Given the description of an element on the screen output the (x, y) to click on. 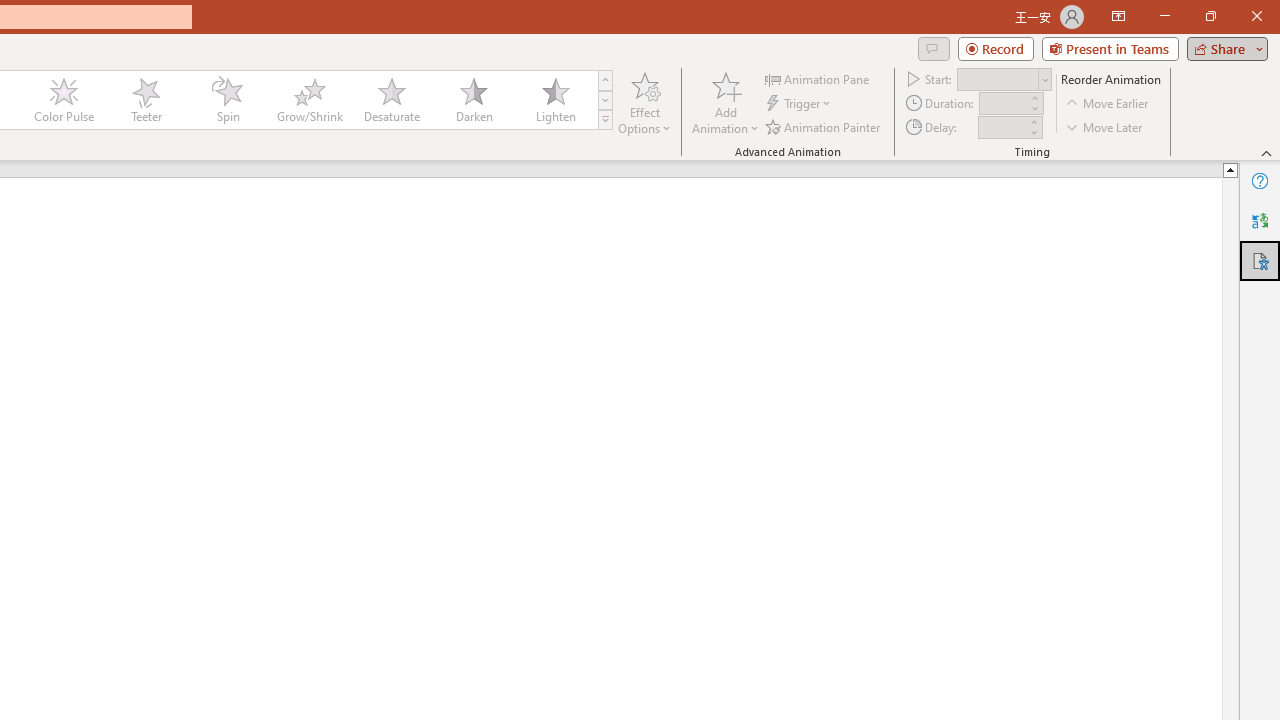
Color Pulse (63, 100)
